Given the description of an element on the screen output the (x, y) to click on. 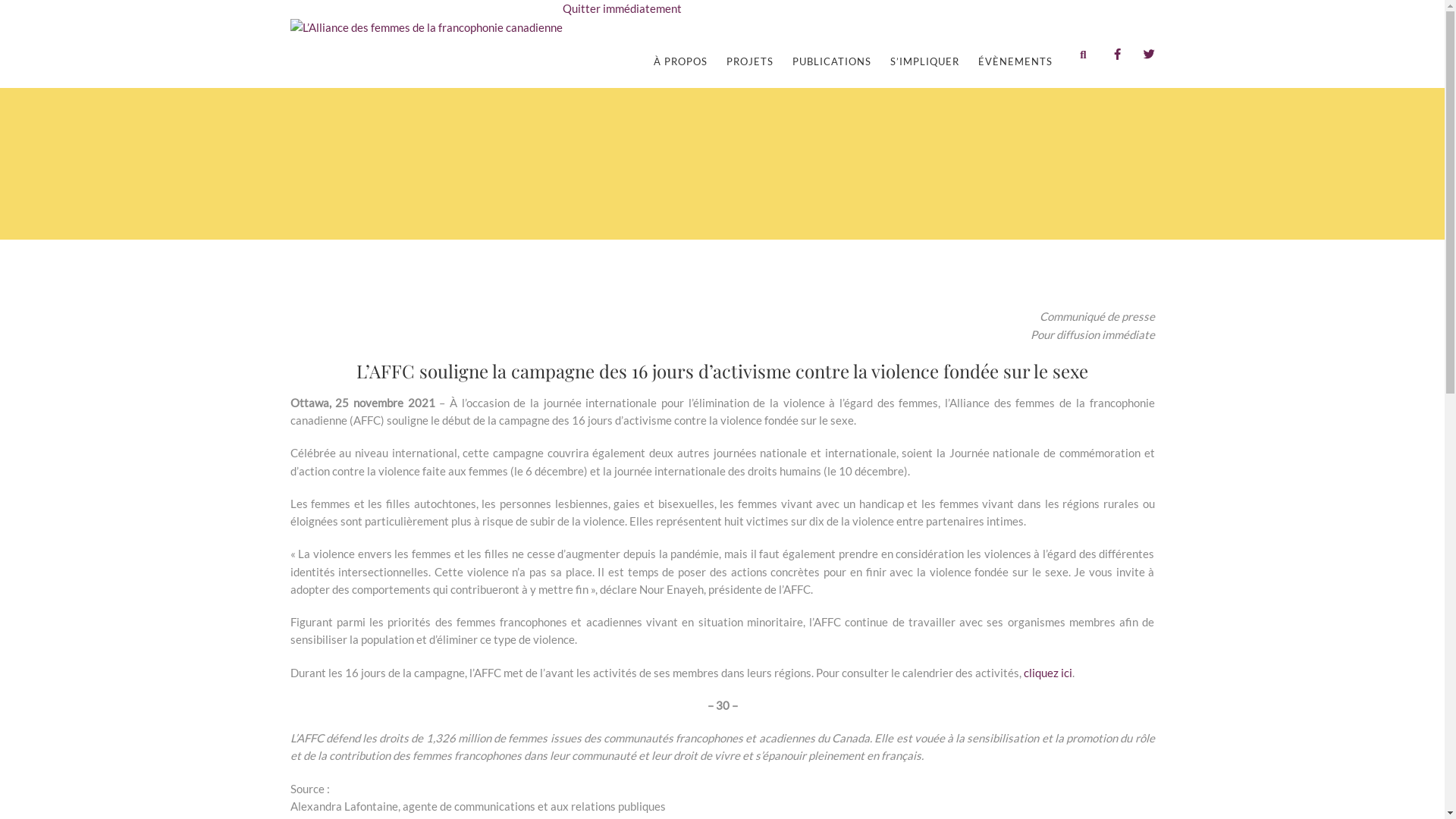
PUBLICATIONS Element type: text (830, 60)
cliquez ici Element type: text (1047, 672)
PROJETS Element type: text (749, 60)
